Given the description of an element on the screen output the (x, y) to click on. 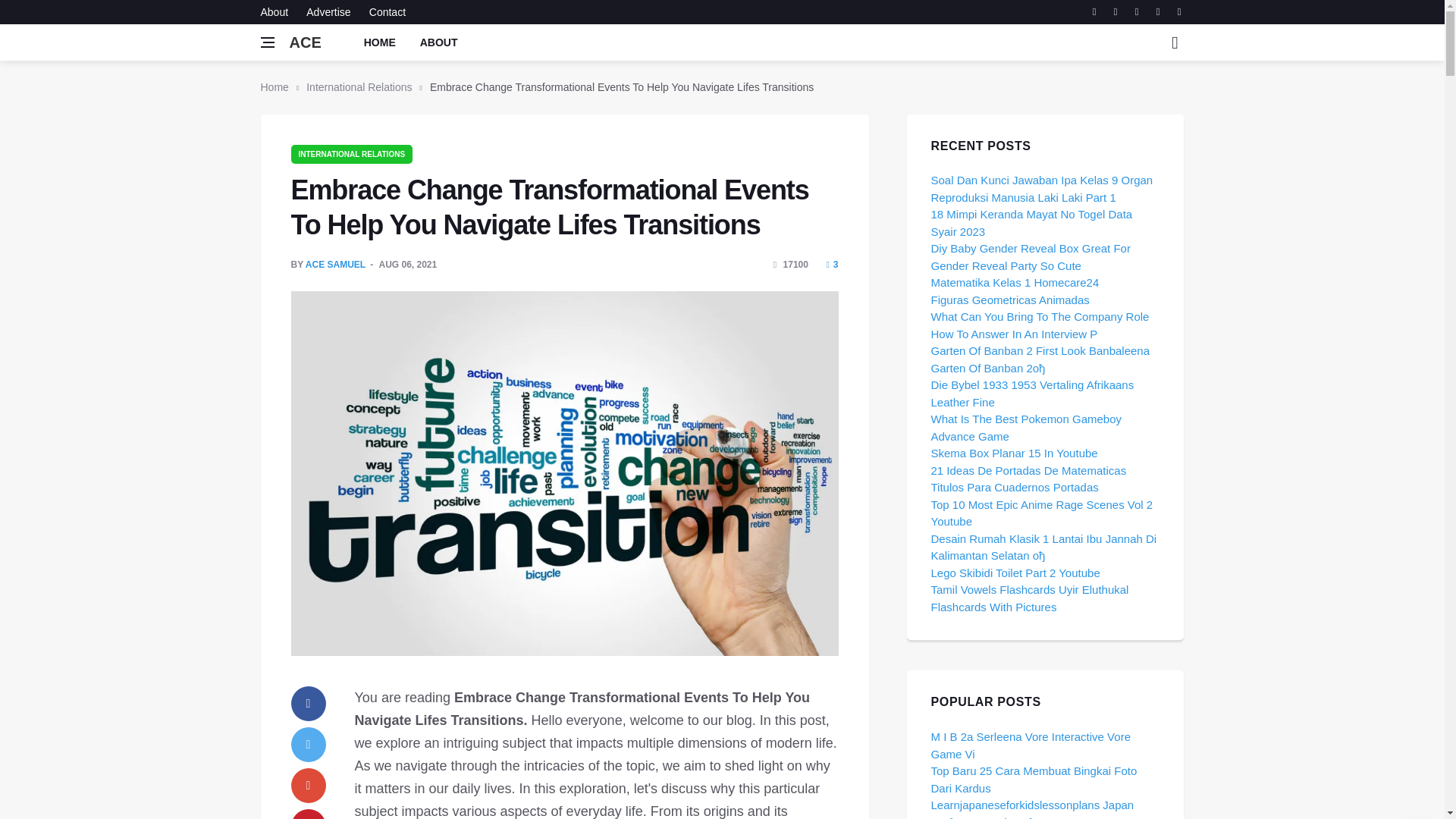
ABOUT (438, 42)
3 (831, 264)
ACE SAMUEL (335, 264)
About (278, 12)
Contact (383, 12)
HOME (379, 42)
twitter (308, 744)
google (308, 785)
Home (274, 87)
INTERNATIONAL RELATIONS (352, 153)
International Relations (358, 87)
facebook (308, 703)
Advertise (328, 12)
ACE (305, 42)
pinterest (308, 814)
